Given the description of an element on the screen output the (x, y) to click on. 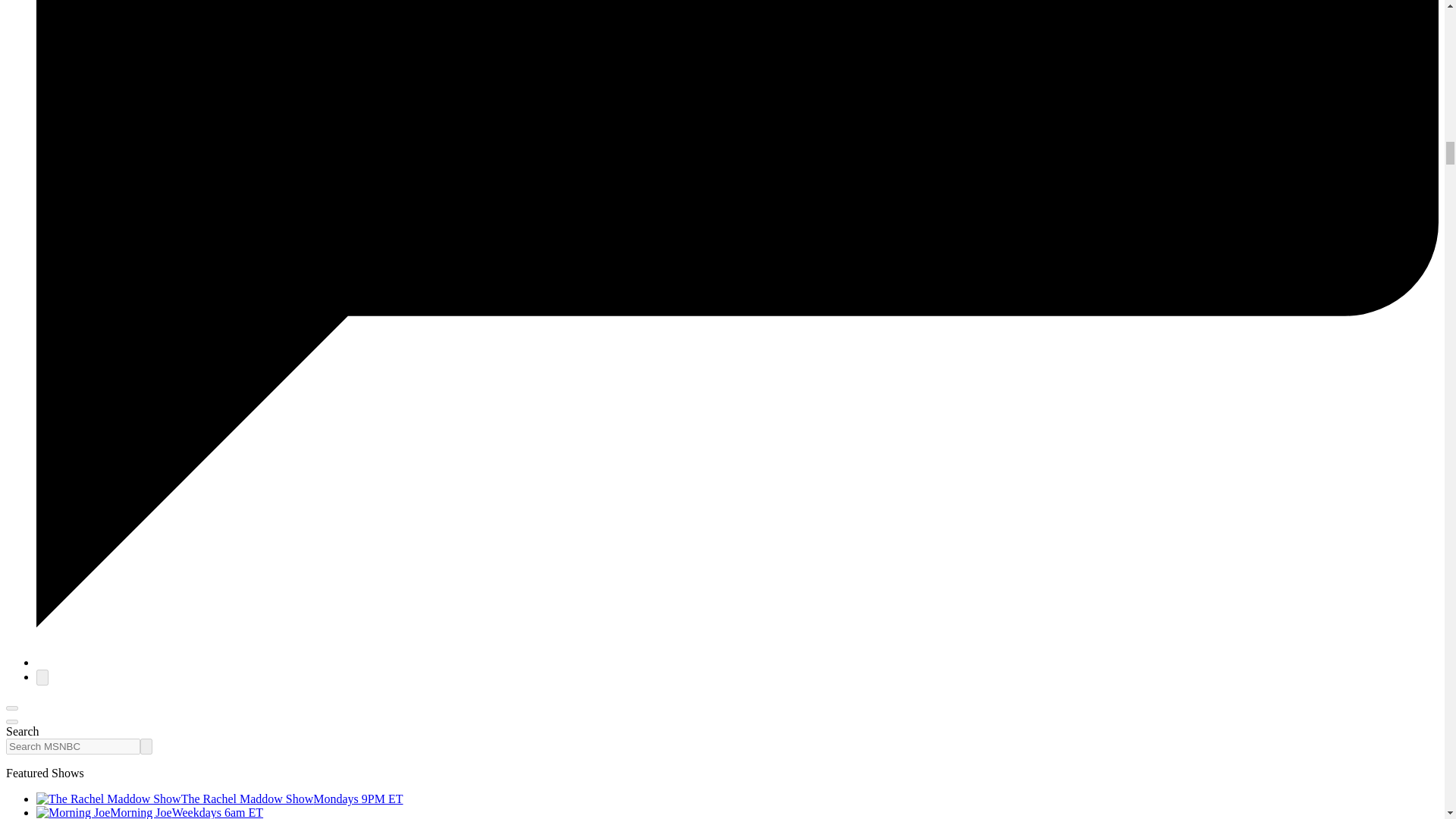
Morning JoeWeekdays 6am ET (149, 812)
The Rachel Maddow ShowMondays 9PM ET (219, 798)
Search (145, 746)
